Given the description of an element on the screen output the (x, y) to click on. 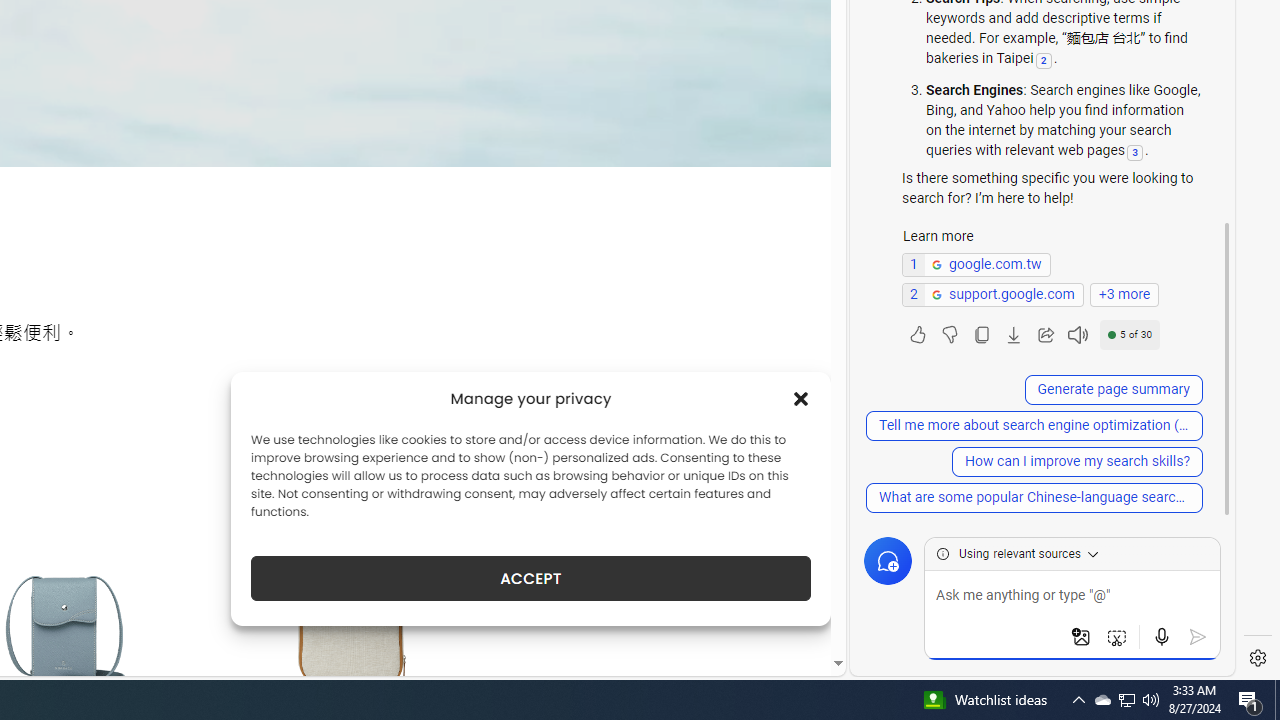
Class: cmplz-close (801, 398)
ACCEPT (530, 578)
